Given the description of an element on the screen output the (x, y) to click on. 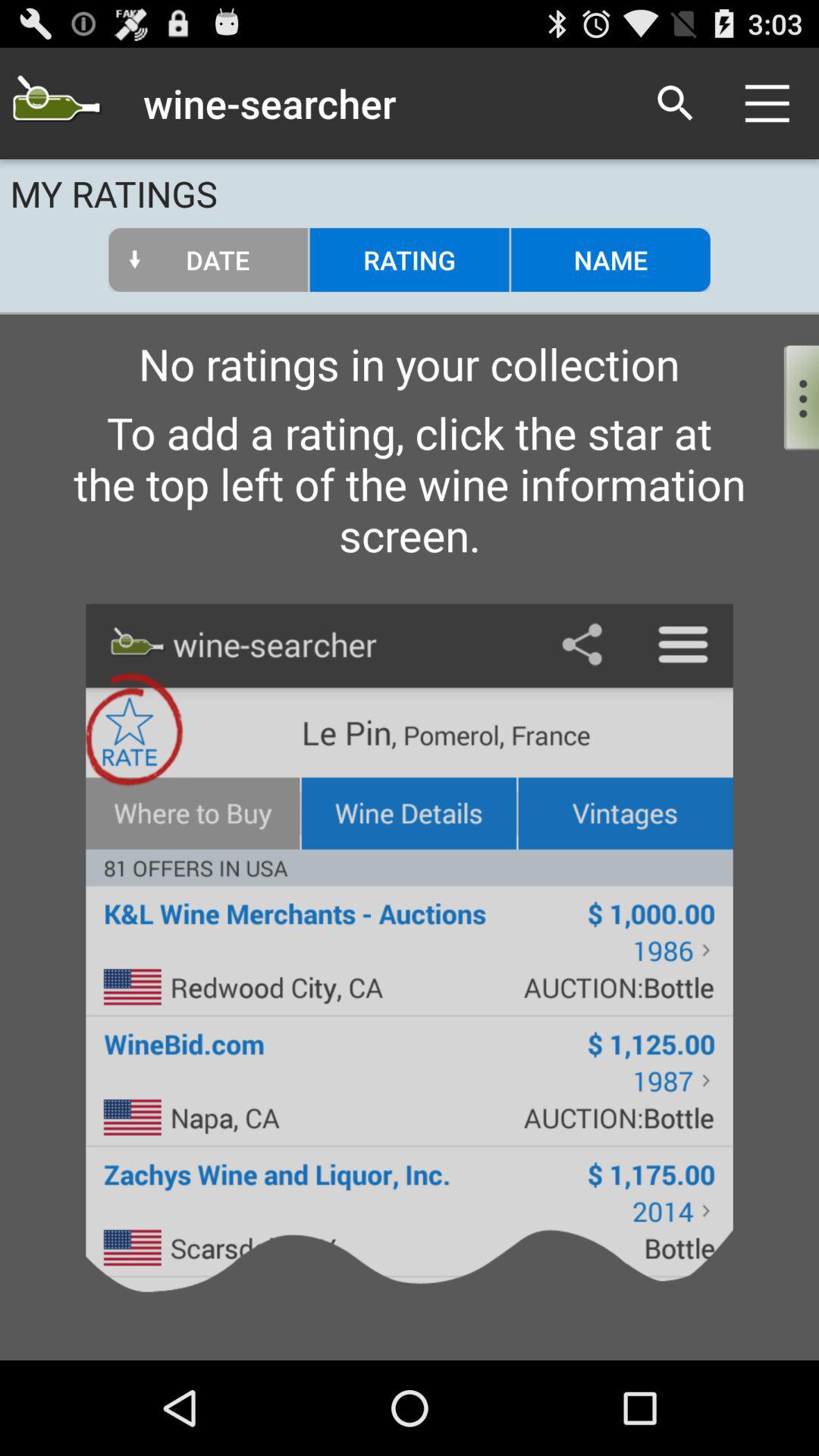
go to home page (55, 103)
